Given the description of an element on the screen output the (x, y) to click on. 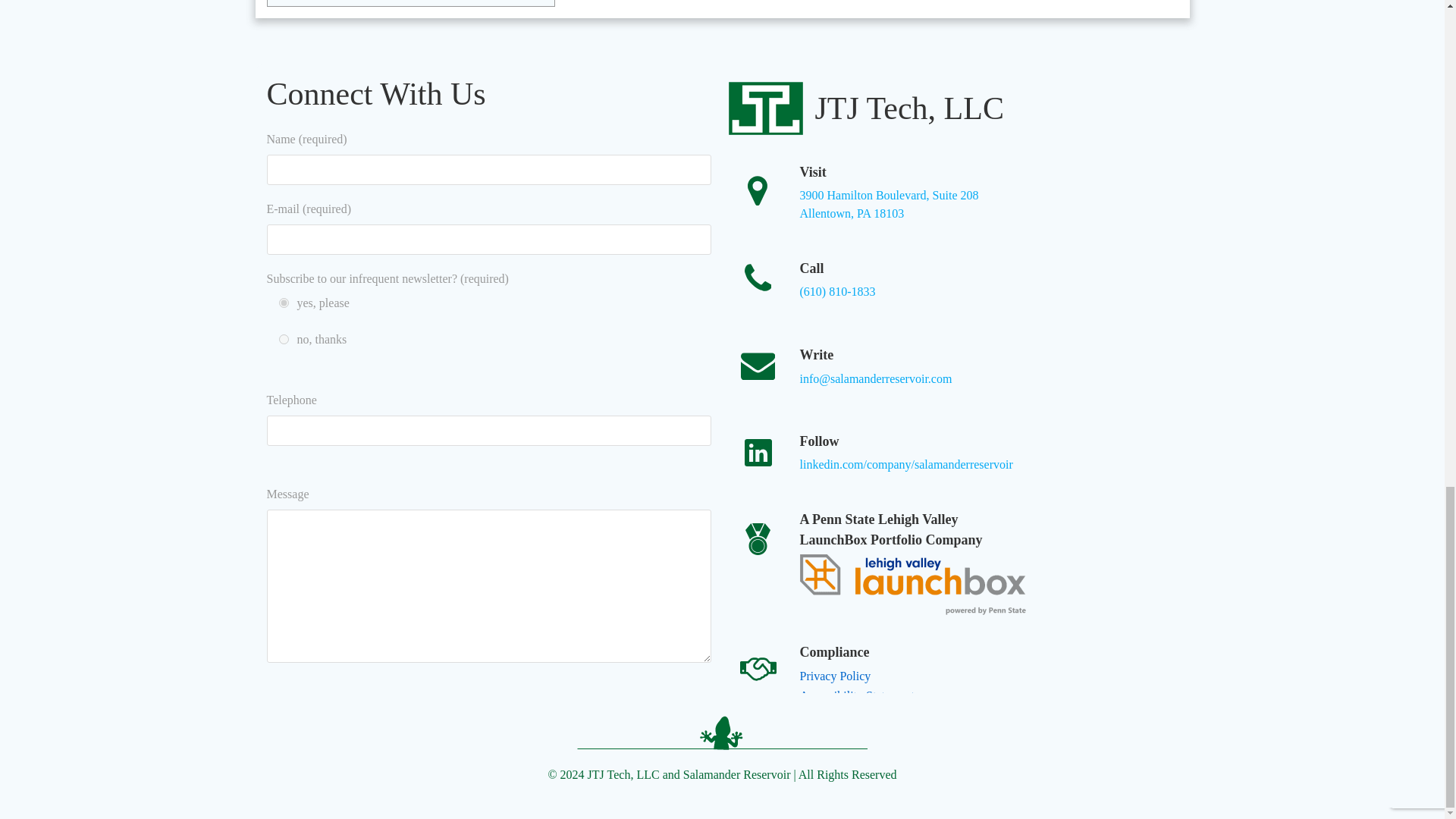
Privacy Policy (834, 675)
Send (888, 204)
yes, please (650, 713)
Send (283, 302)
Accessibility Statement (650, 713)
no, thanks (856, 705)
